Given the description of an element on the screen output the (x, y) to click on. 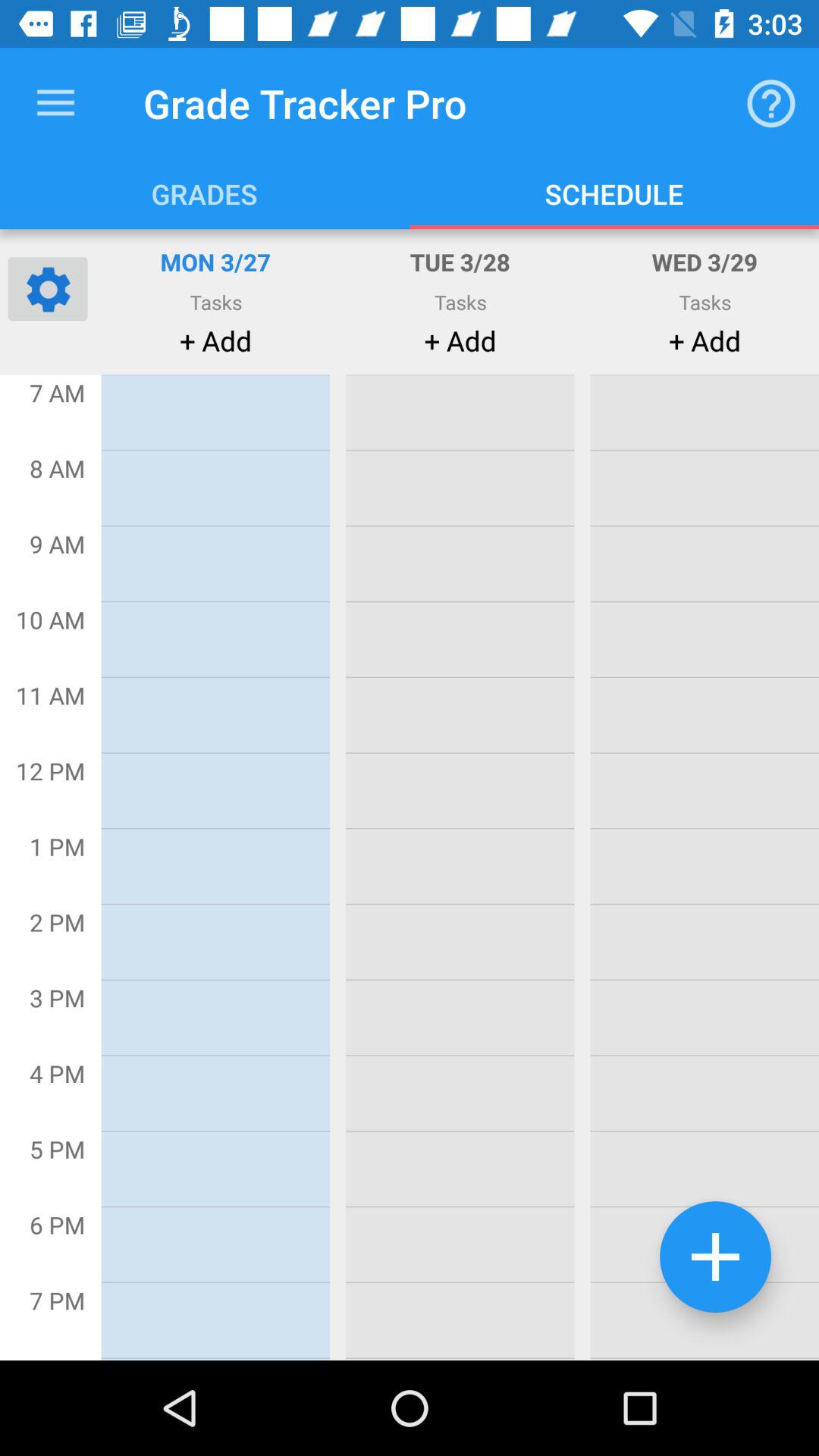
choose icon at the bottom right corner (715, 1256)
